Given the description of an element on the screen output the (x, y) to click on. 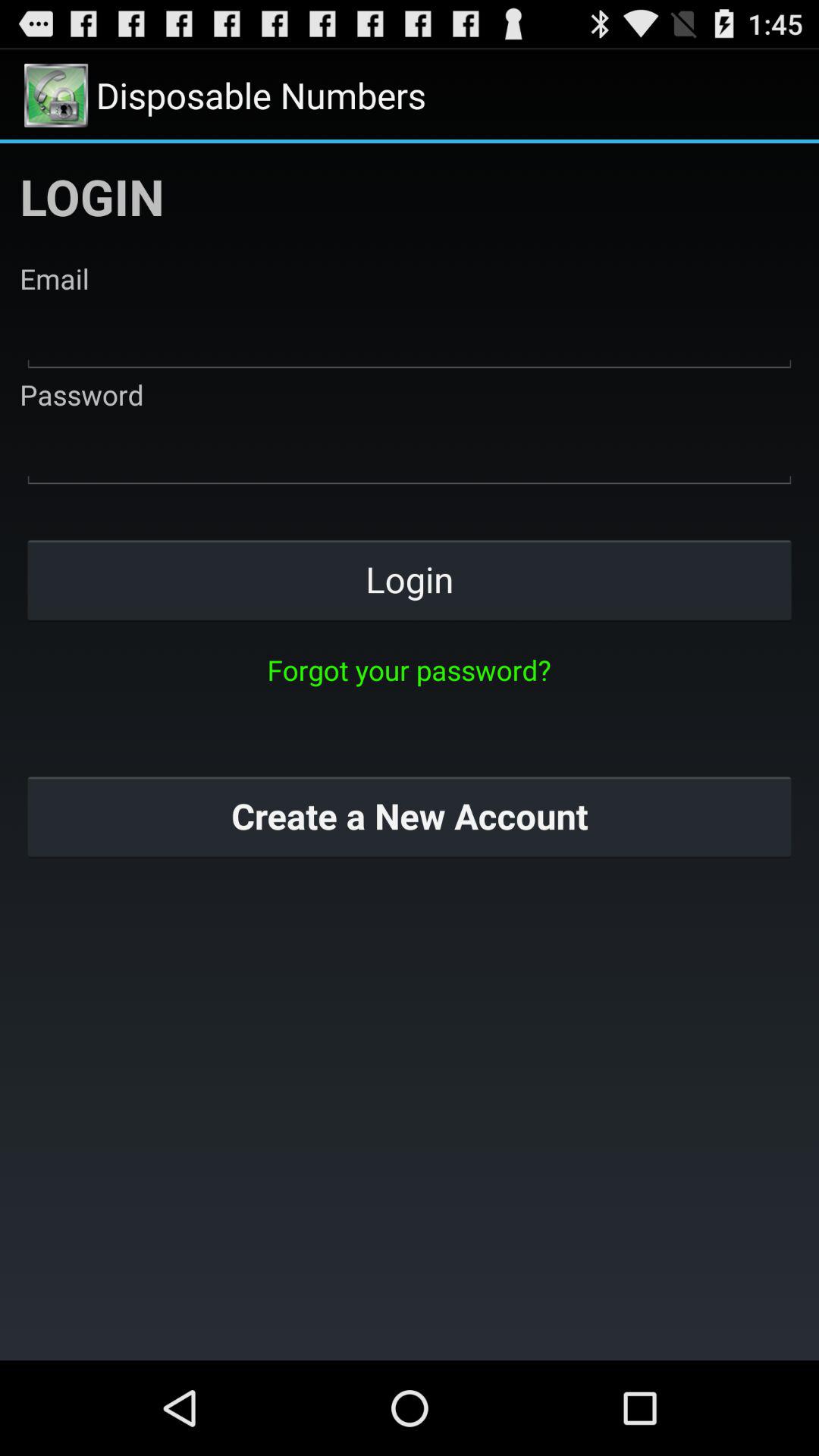
click create a new (409, 815)
